Given the description of an element on the screen output the (x, y) to click on. 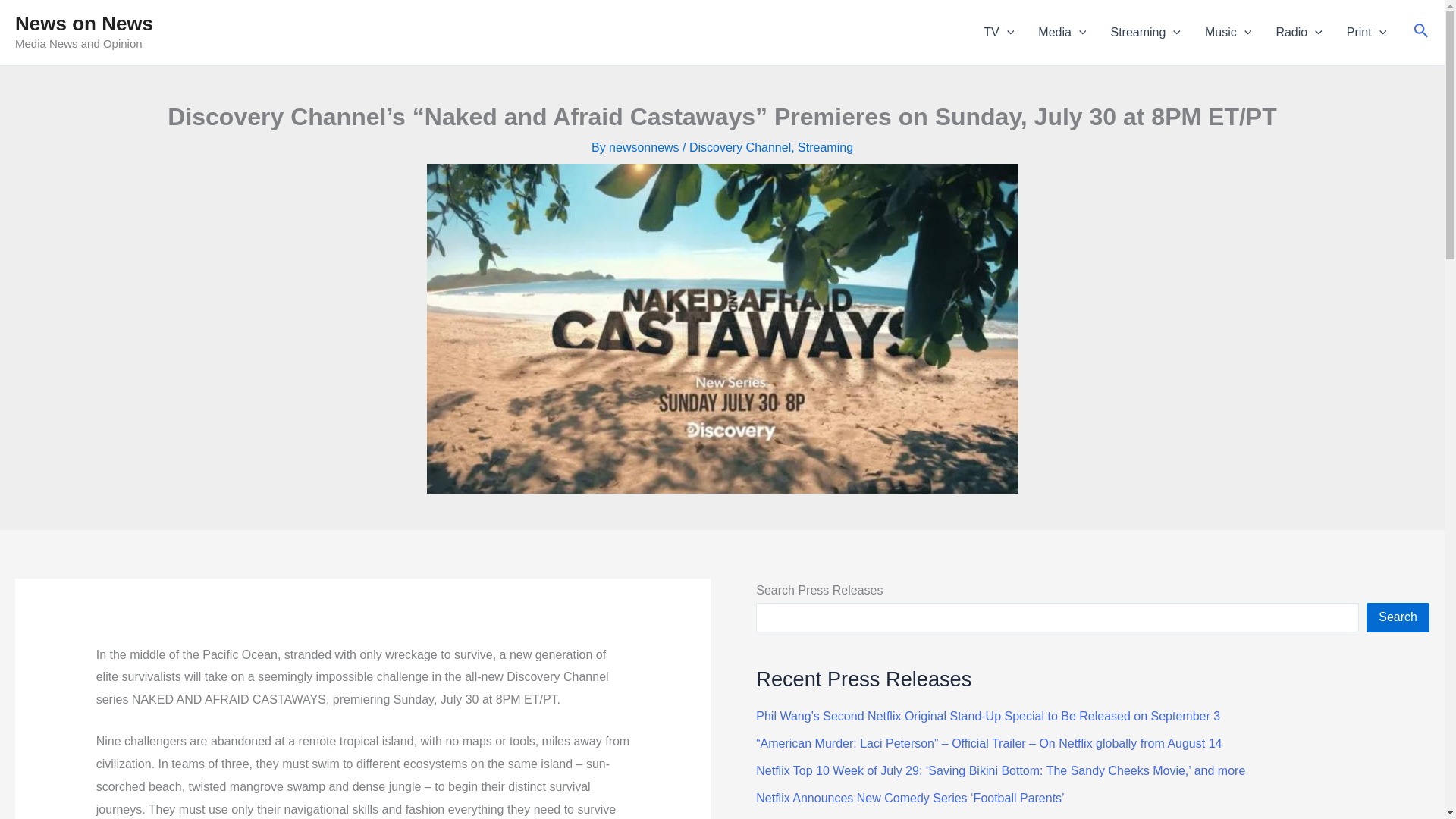
News on News (83, 23)
Streaming (1144, 32)
Music (1227, 32)
TV (998, 32)
View all posts by newsonnews (645, 146)
Media (1061, 32)
